Given the description of an element on the screen output the (x, y) to click on. 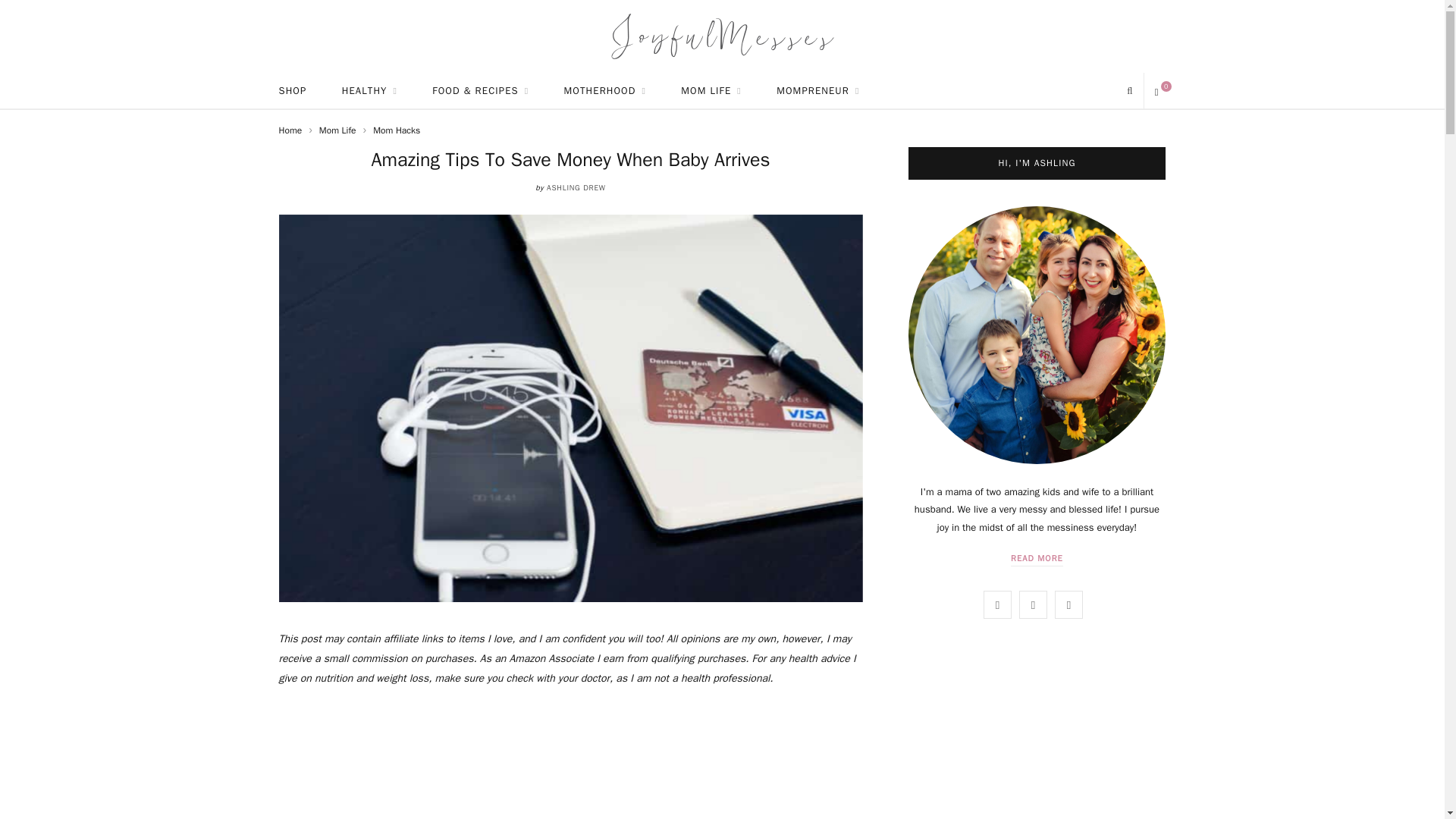
Mom Life (337, 130)
HEALTHY (369, 90)
Home (290, 130)
Mom Hacks (396, 130)
MOM LIFE (711, 90)
MOTHERHOOD (605, 90)
SHOP (291, 90)
Joyful Messes (721, 36)
Posts by Ashling Drew (576, 187)
